Given the description of an element on the screen output the (x, y) to click on. 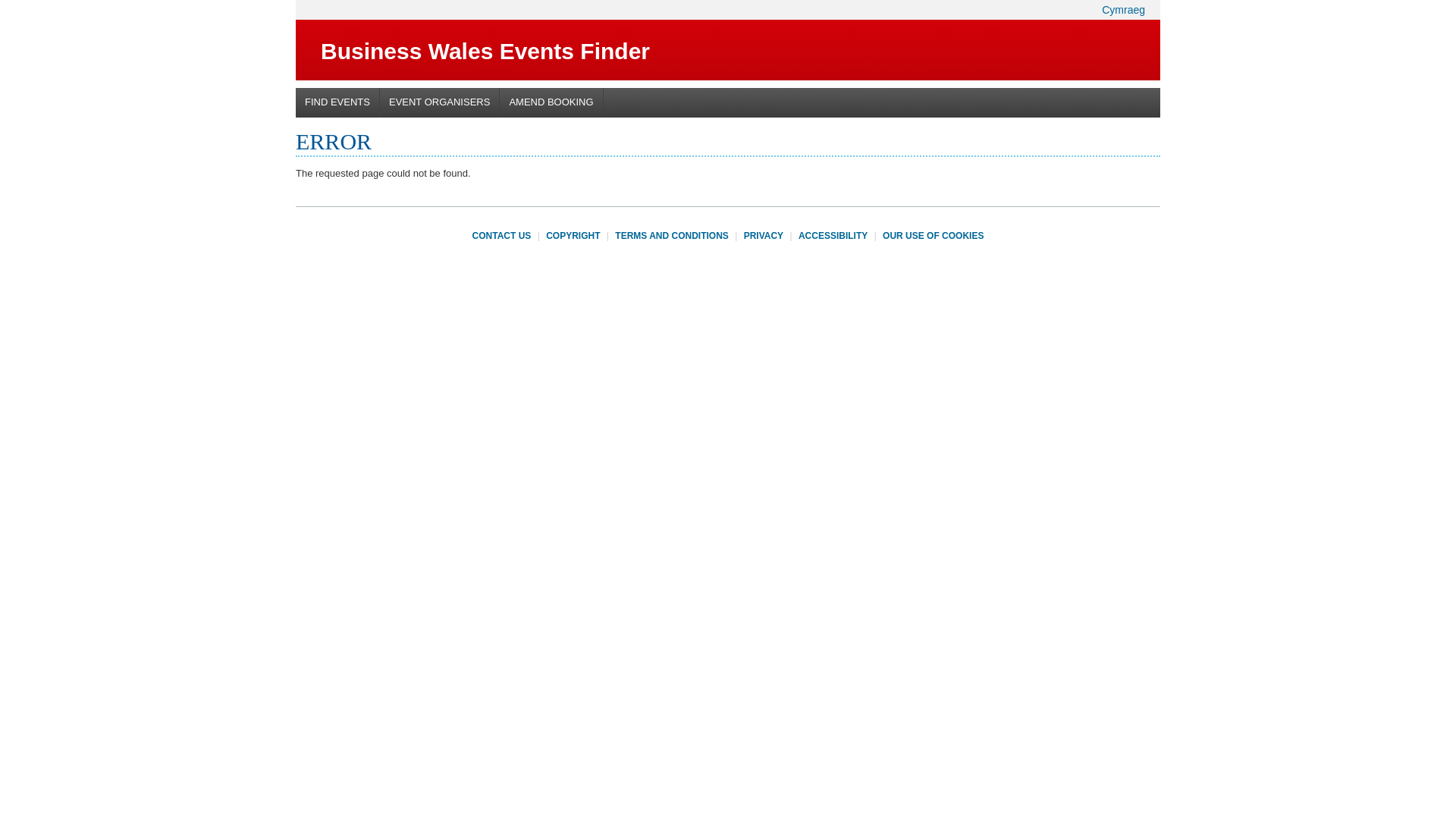
OUR USE OF COOKIES (933, 235)
Business Wales Events Finder (484, 51)
Terms And Conditions (671, 235)
Accessibility (832, 235)
CONTACT US (501, 235)
EVENT ORGANISERS (439, 102)
Event organisers (439, 102)
PRIVACY (763, 235)
AMEND BOOKING (550, 102)
ACCESSIBILITY (832, 235)
